Given the description of an element on the screen output the (x, y) to click on. 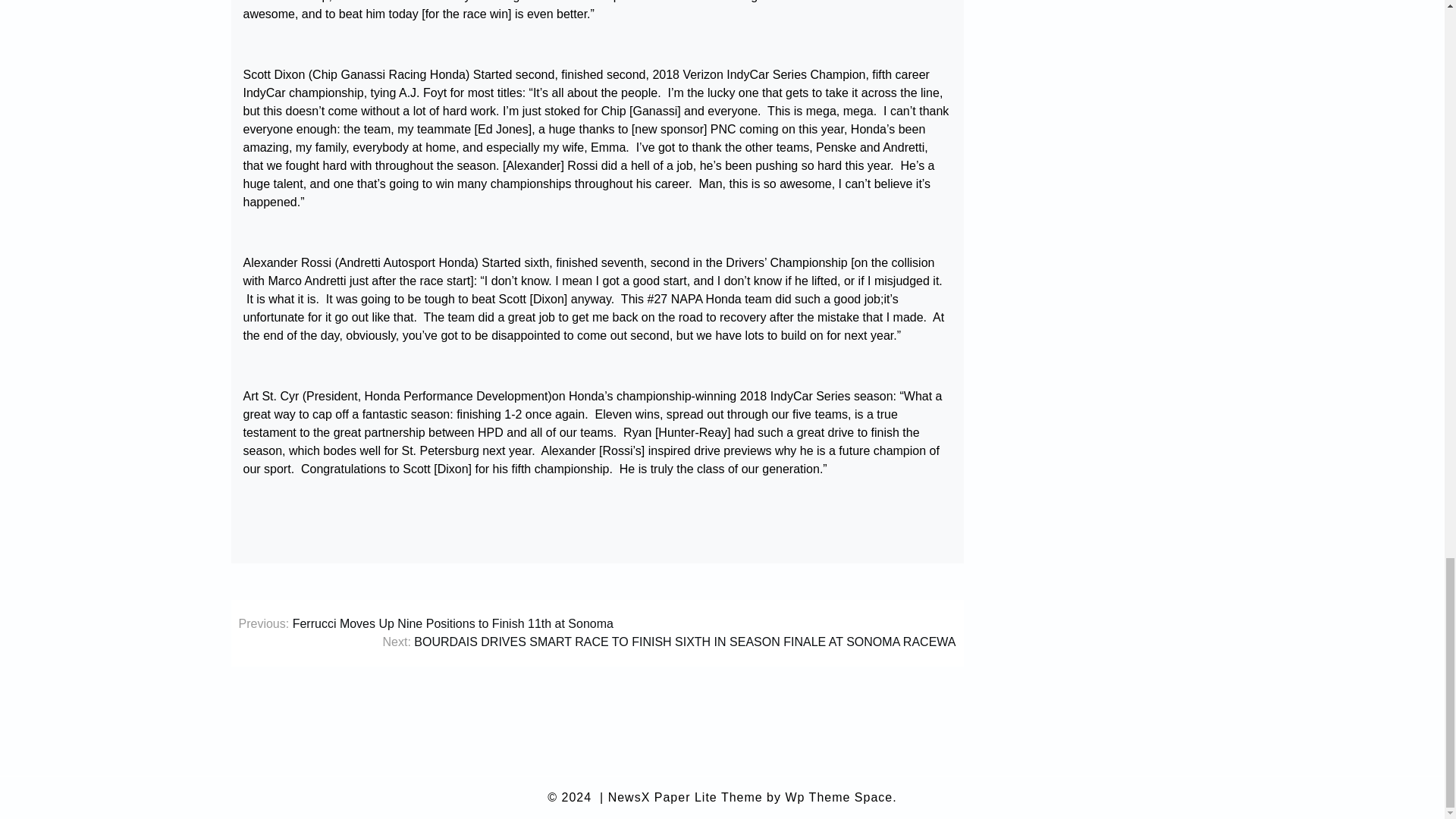
NewsX Paper Lite Theme (685, 797)
